Given the description of an element on the screen output the (x, y) to click on. 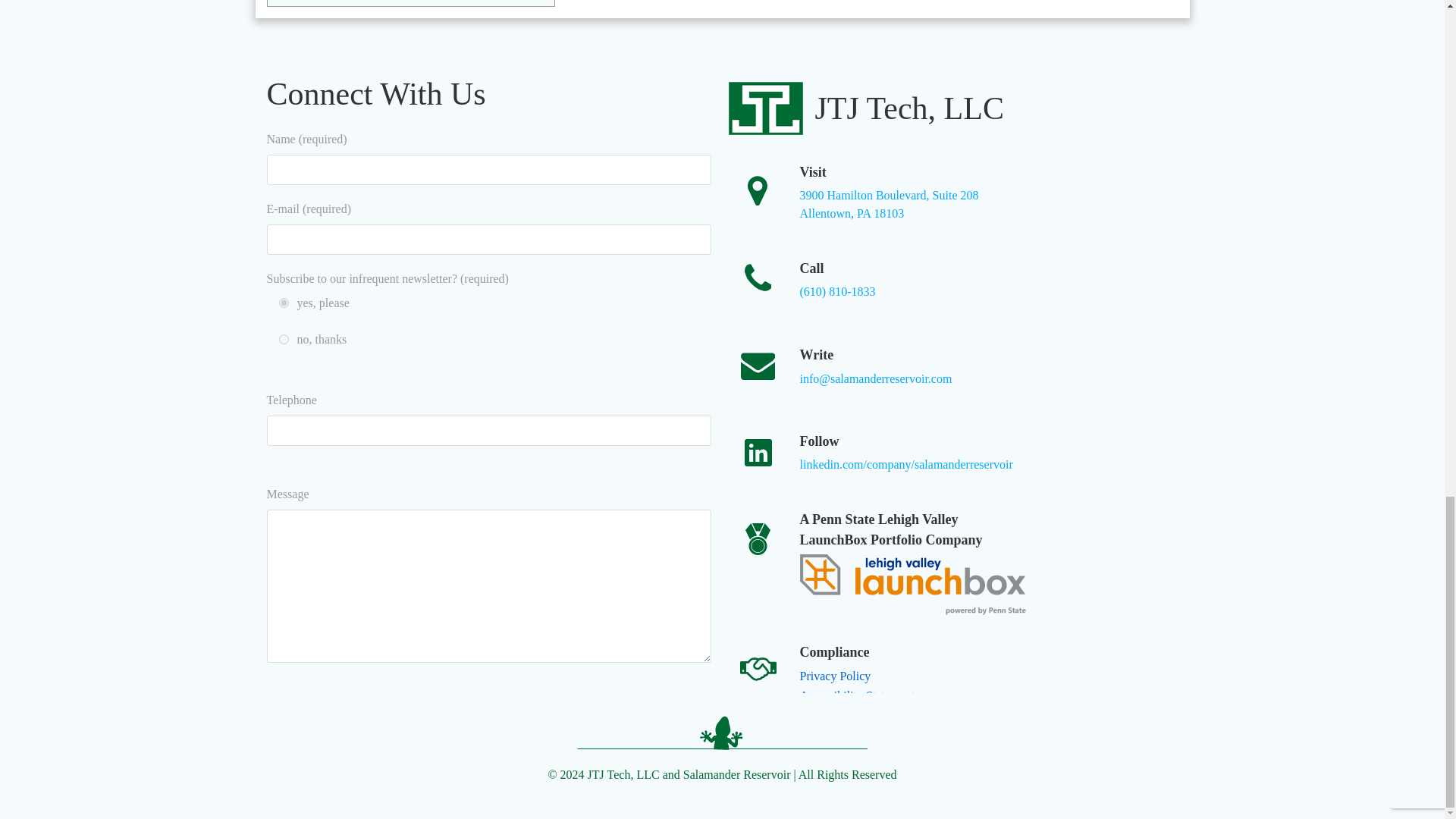
Accessibility Statement (856, 705)
yes, please (283, 302)
Privacy Policy (834, 675)
Send (650, 713)
no, thanks (283, 338)
Send (888, 204)
